Given the description of an element on the screen output the (x, y) to click on. 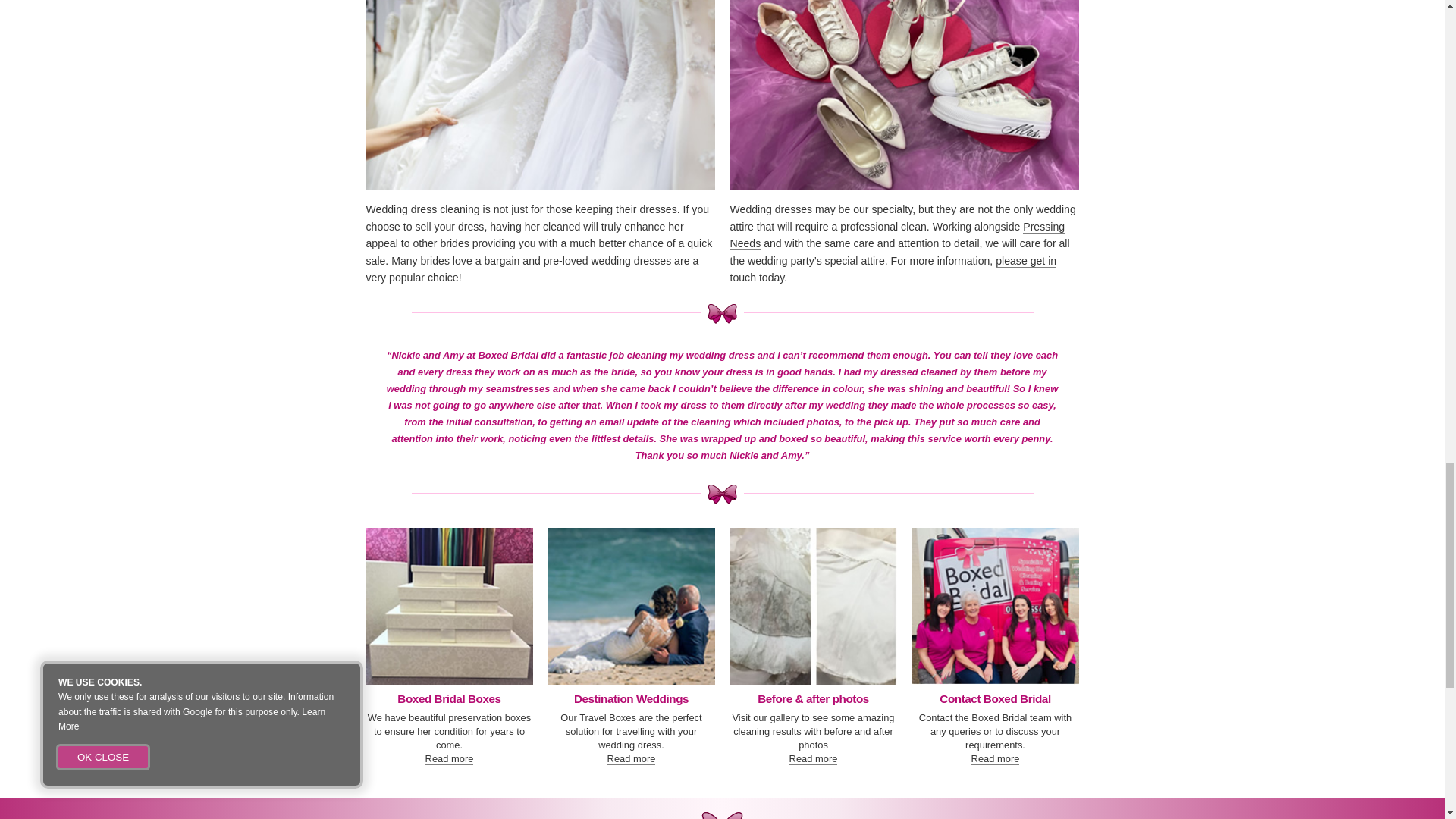
please get in touch today (893, 269)
Pressing Needs (896, 235)
Read more (813, 758)
Read more (449, 758)
Read more (631, 758)
Read more (995, 758)
